Given the description of an element on the screen output the (x, y) to click on. 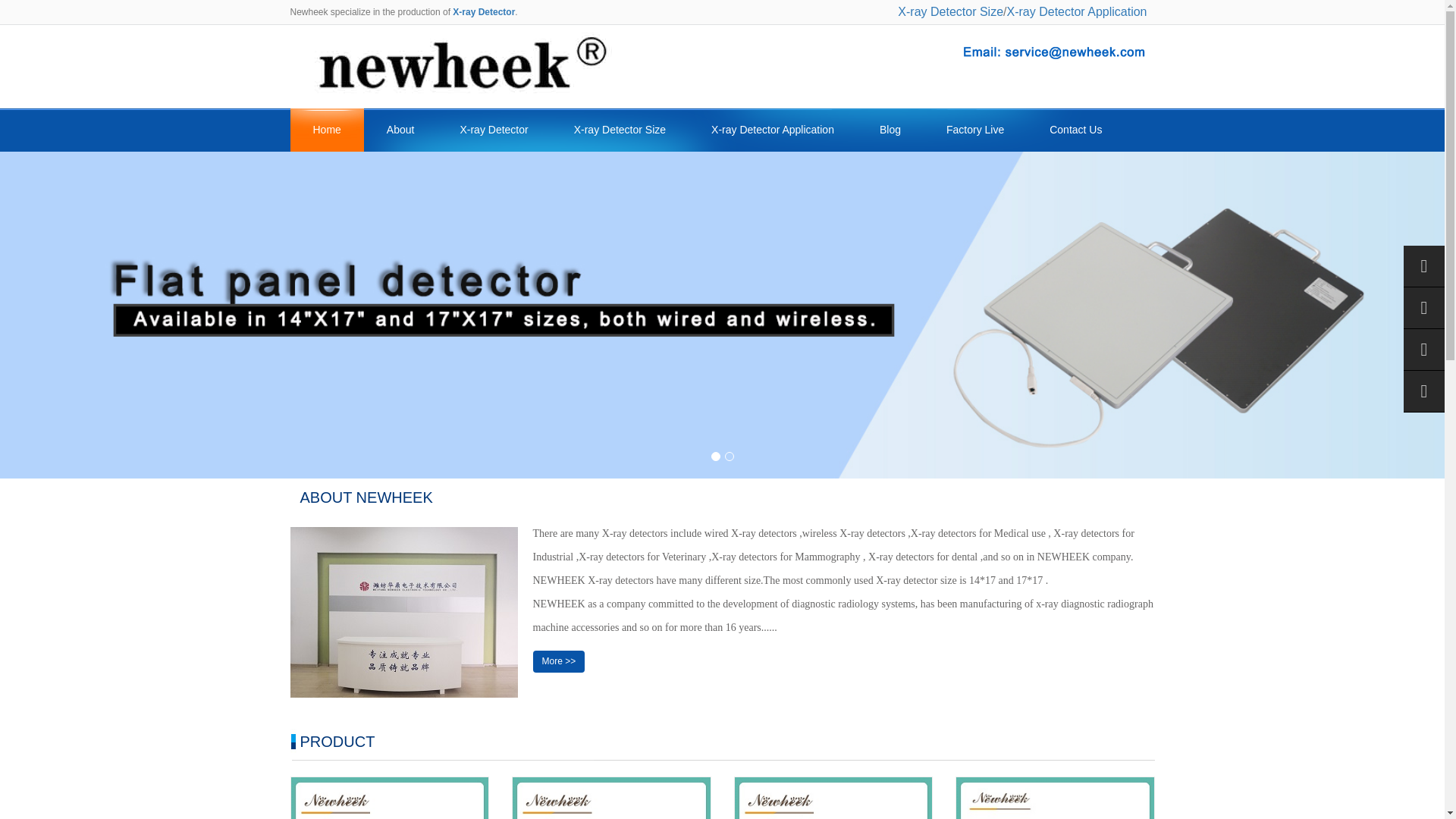
Factory Live (974, 129)
1 (715, 456)
Contact Us (1075, 129)
About (401, 129)
X-ray Detector (483, 11)
X-ray Detector (493, 129)
X-ray Detector Application (772, 129)
X-ray Detector Size (619, 129)
2 (729, 456)
Blog (890, 129)
X-ray Detector Size (950, 11)
X-ray Detector Application (1077, 11)
Home (325, 129)
